Given the description of an element on the screen output the (x, y) to click on. 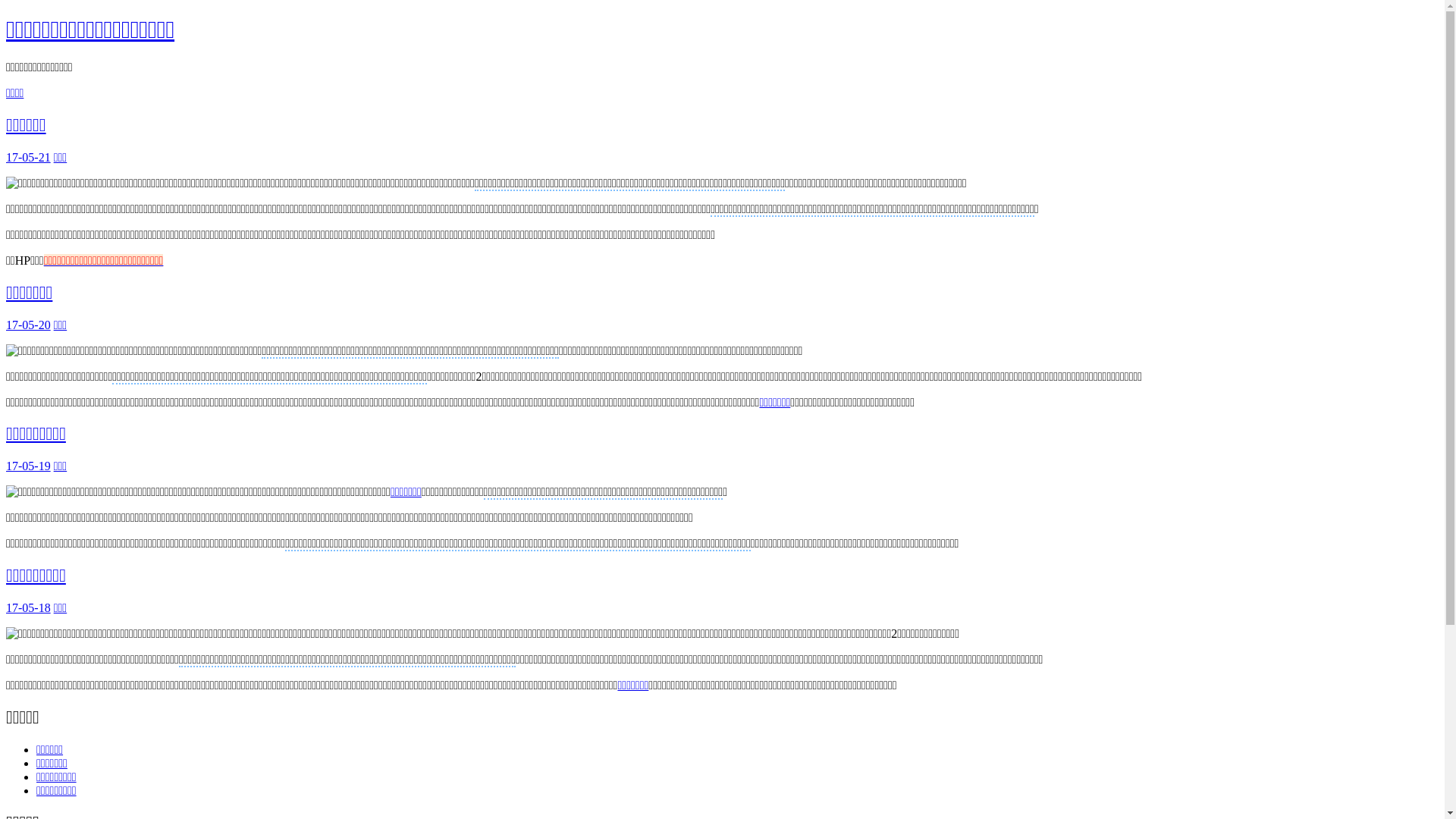
17-05-20 Element type: text (28, 324)
17-05-18 Element type: text (28, 607)
17-05-19 Element type: text (28, 465)
17-05-21 Element type: text (28, 156)
